Given the description of an element on the screen output the (x, y) to click on. 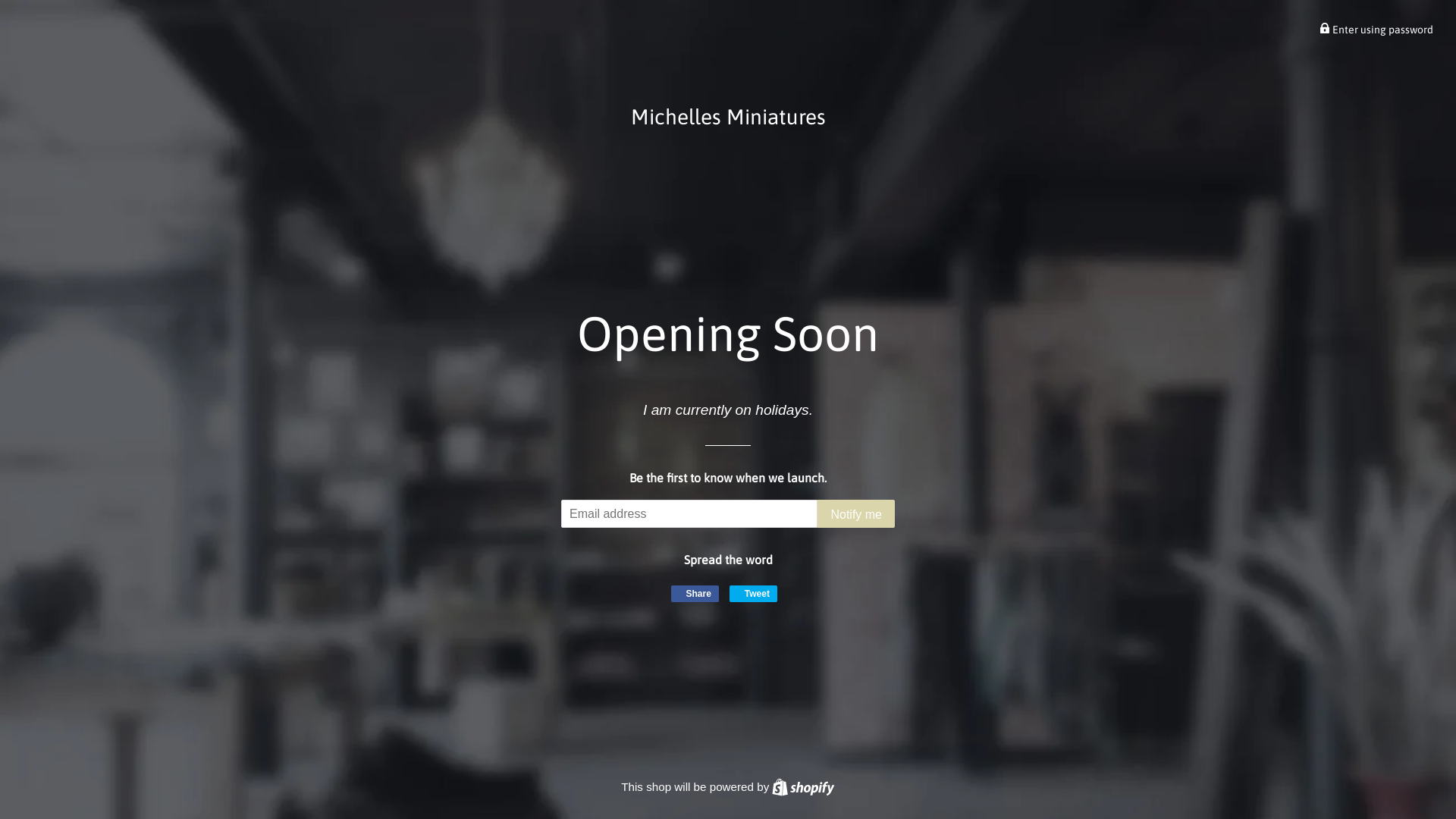
Lock icon Enter using password Element type: text (1376, 29)
Shopify logo
Shopify Element type: text (802, 786)
Tweet
Tweet on Twitter Element type: text (753, 593)
Notify me Element type: text (855, 513)
Share
Share on Facebook Element type: text (694, 593)
